Given the description of an element on the screen output the (x, y) to click on. 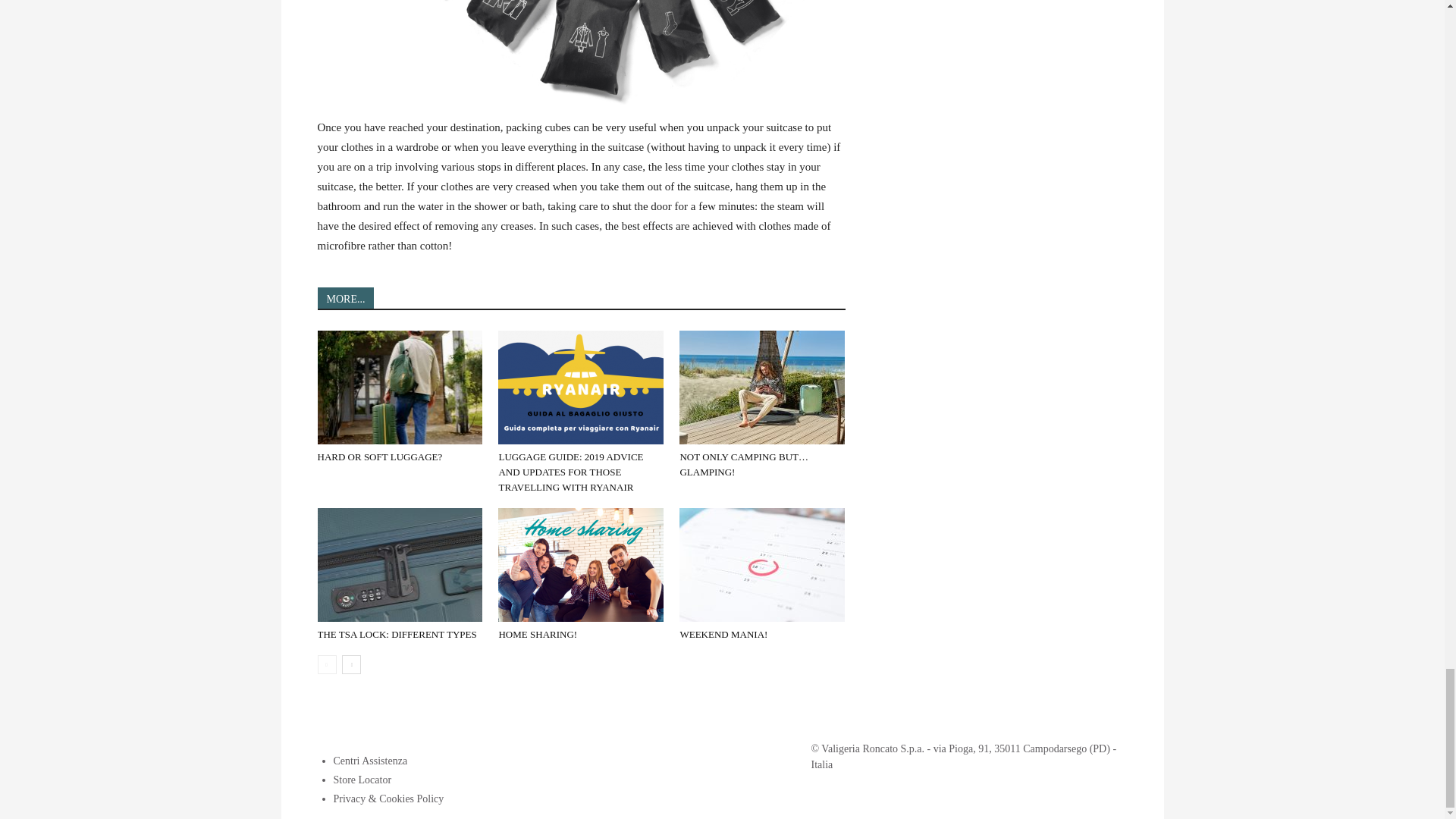
Hard or soft luggage? (399, 387)
Hard or soft luggage? (379, 456)
MORE... (345, 297)
